Given the description of an element on the screen output the (x, y) to click on. 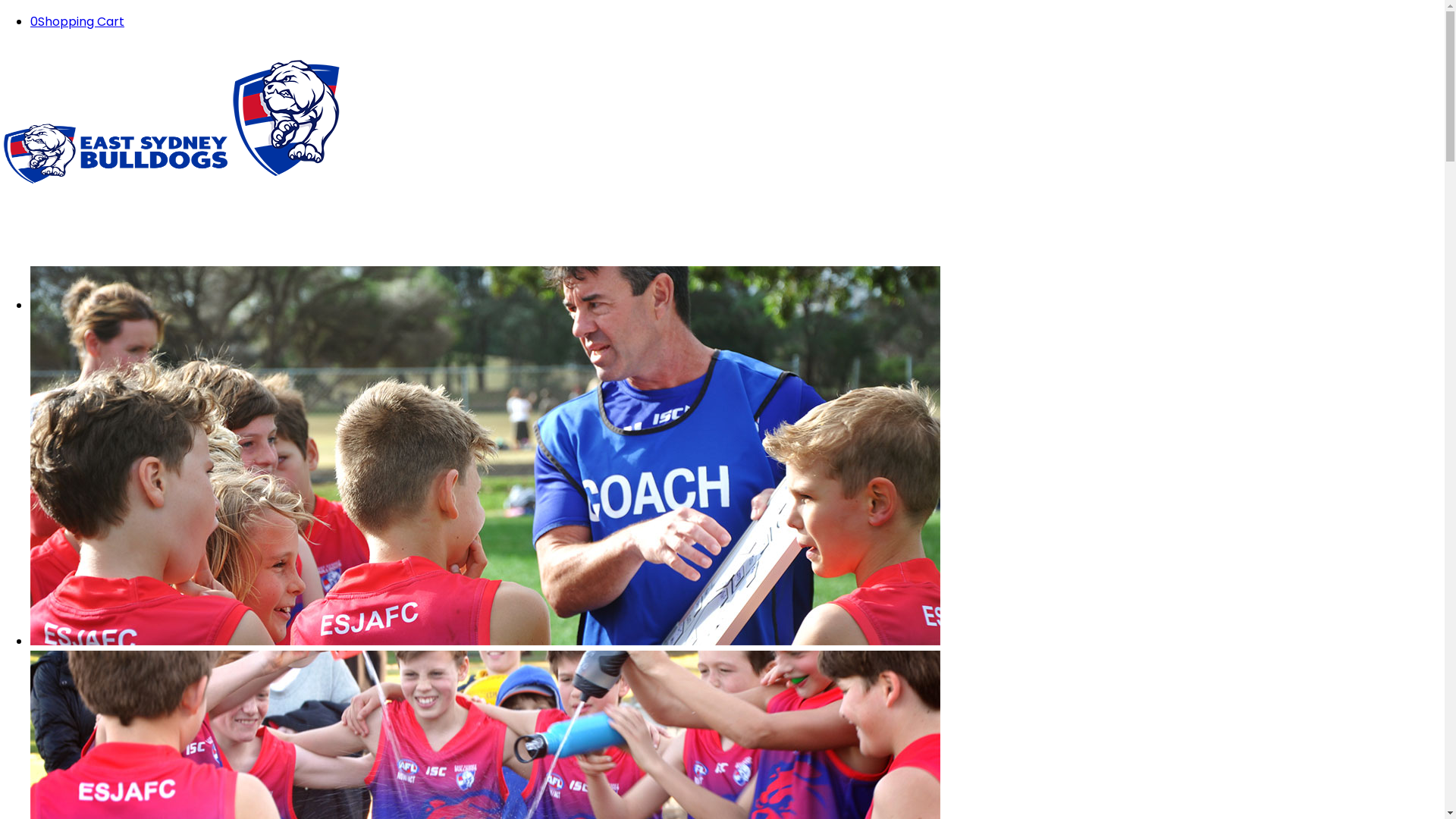
logo-wh Element type: hover (395, 117)
Home Grounds Element type: text (105, 729)
0Shopping Cart Element type: text (77, 21)
Volunteer Element type: text (89, 517)
banner1 Element type: hover (485, 455)
Club History Element type: text (96, 411)
Our Club Element type: text (56, 304)
logo Element type: hover (113, 153)
Committee Element type: text (94, 623)
